Given the description of an element on the screen output the (x, y) to click on. 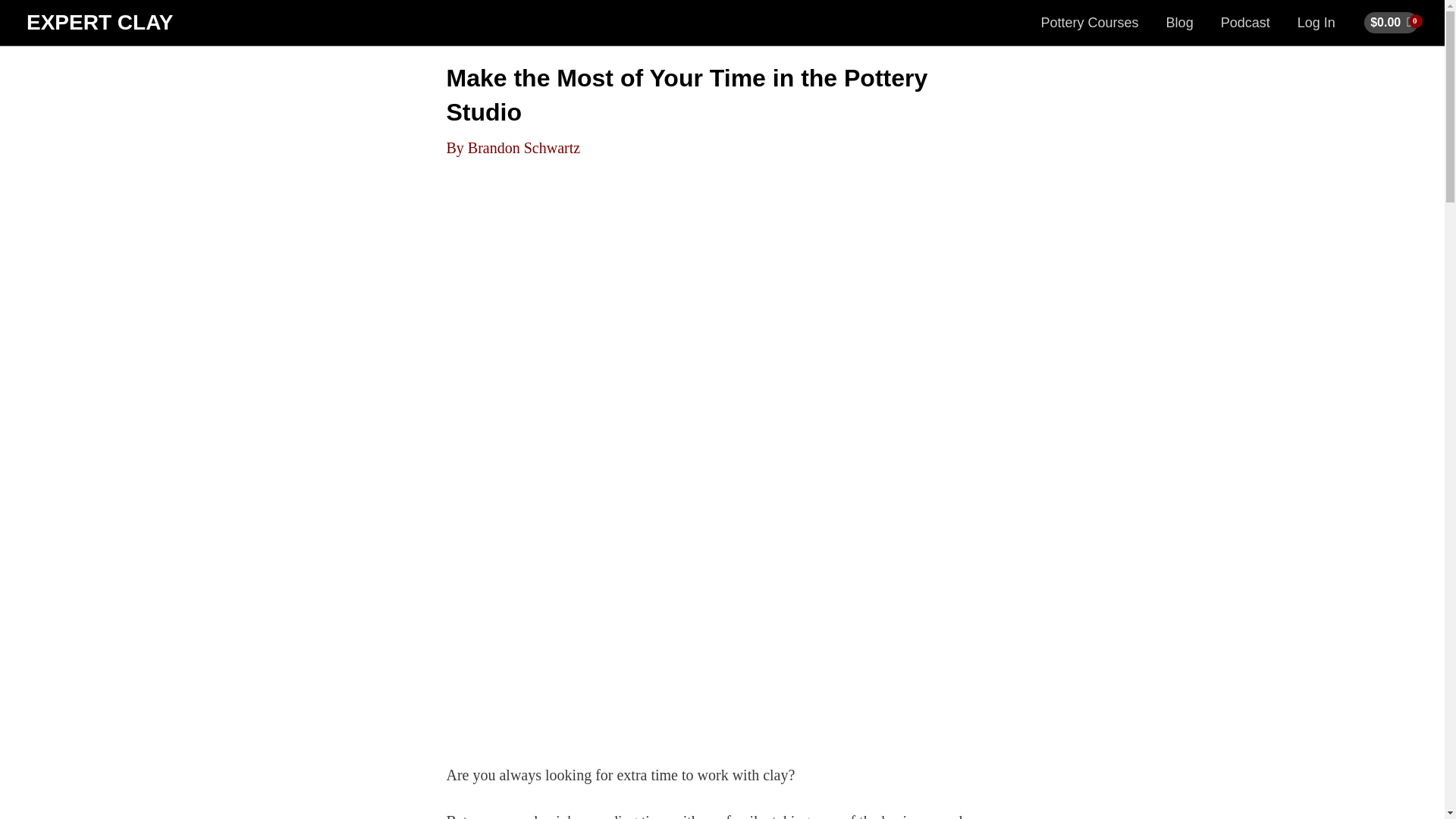
Podcast (1245, 22)
EXPERT CLAY (99, 22)
Brandon Schwartz (523, 147)
Log In (1316, 22)
Pottery Courses (1090, 22)
View all posts by Brandon Schwartz (523, 147)
Blog (1180, 22)
